Given the description of an element on the screen output the (x, y) to click on. 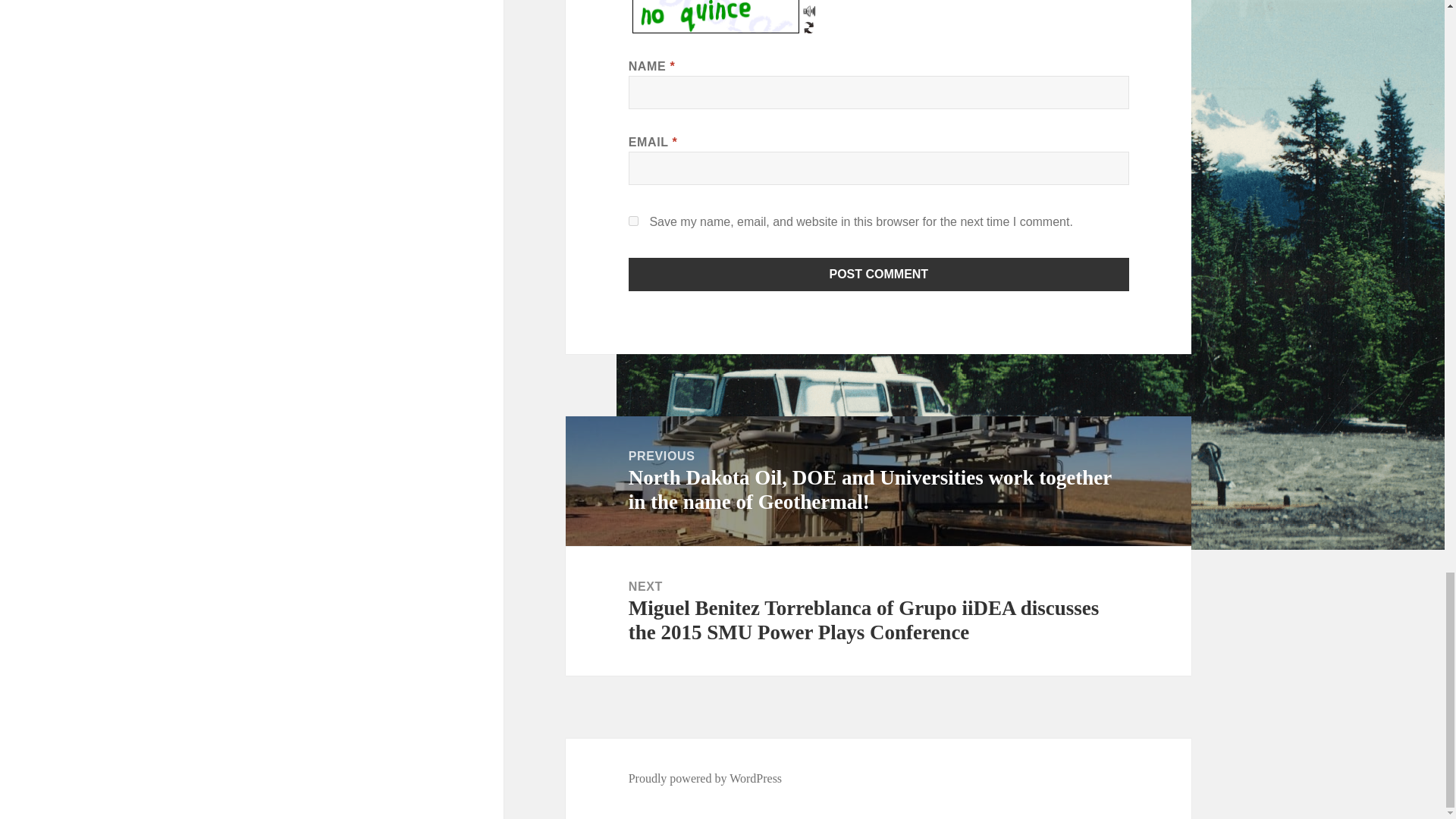
yes (633, 221)
Post Comment (878, 274)
